Given the description of an element on the screen output the (x, y) to click on. 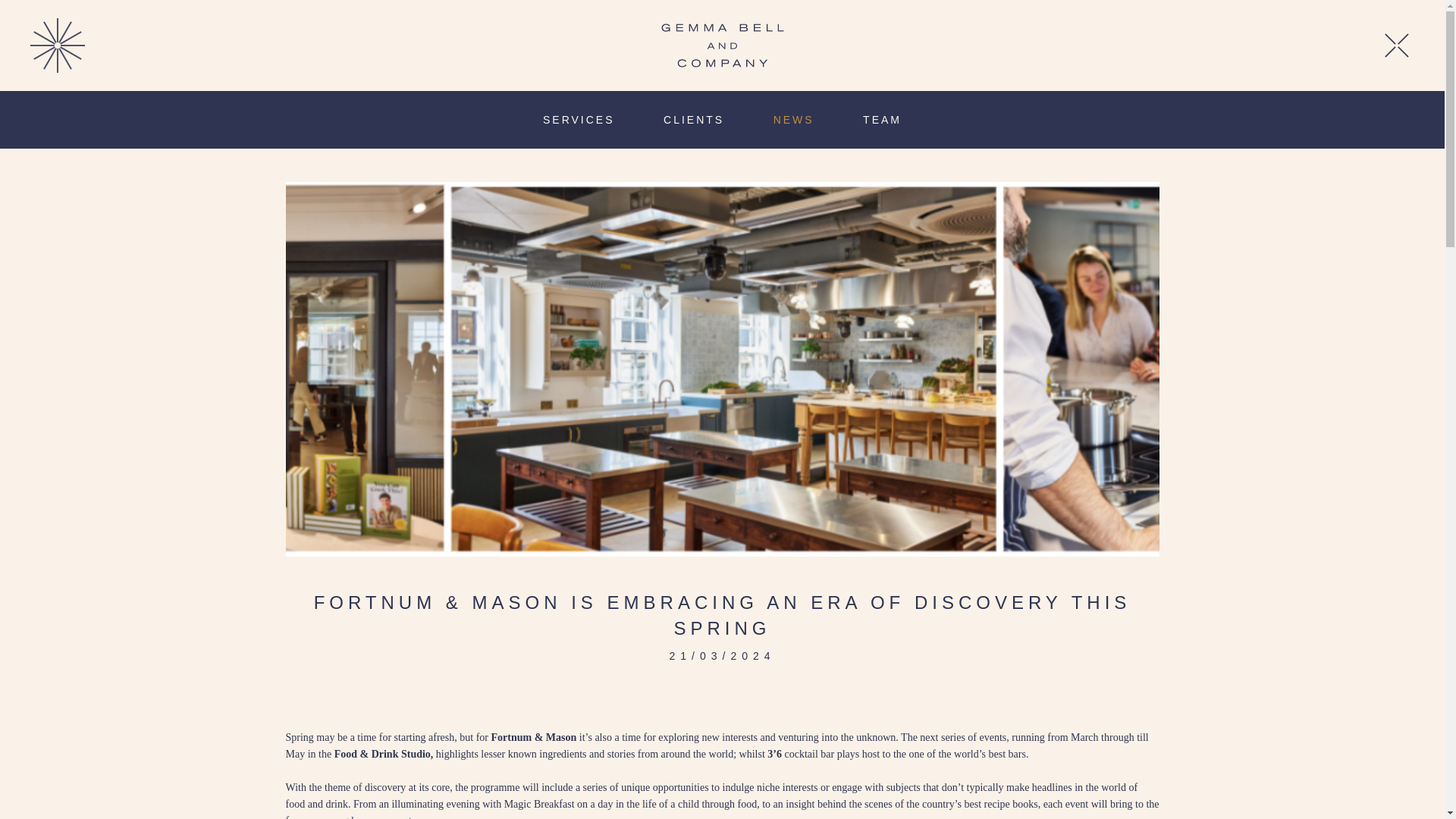
NEWS (796, 119)
CLIENTS (696, 119)
SERVICES (581, 119)
TEAM (882, 119)
